Given the description of an element on the screen output the (x, y) to click on. 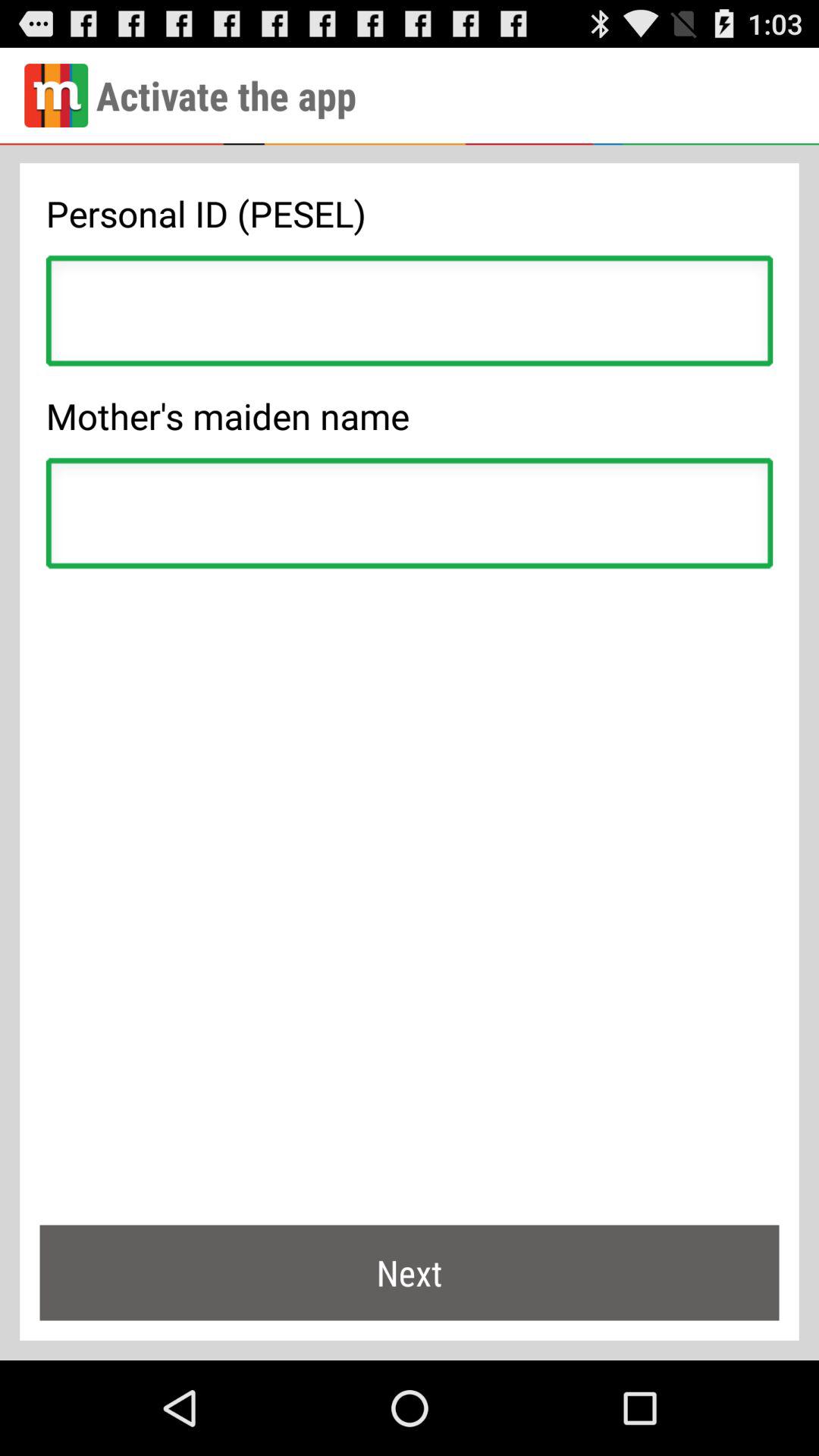
tap next item (409, 1272)
